Given the description of an element on the screen output the (x, y) to click on. 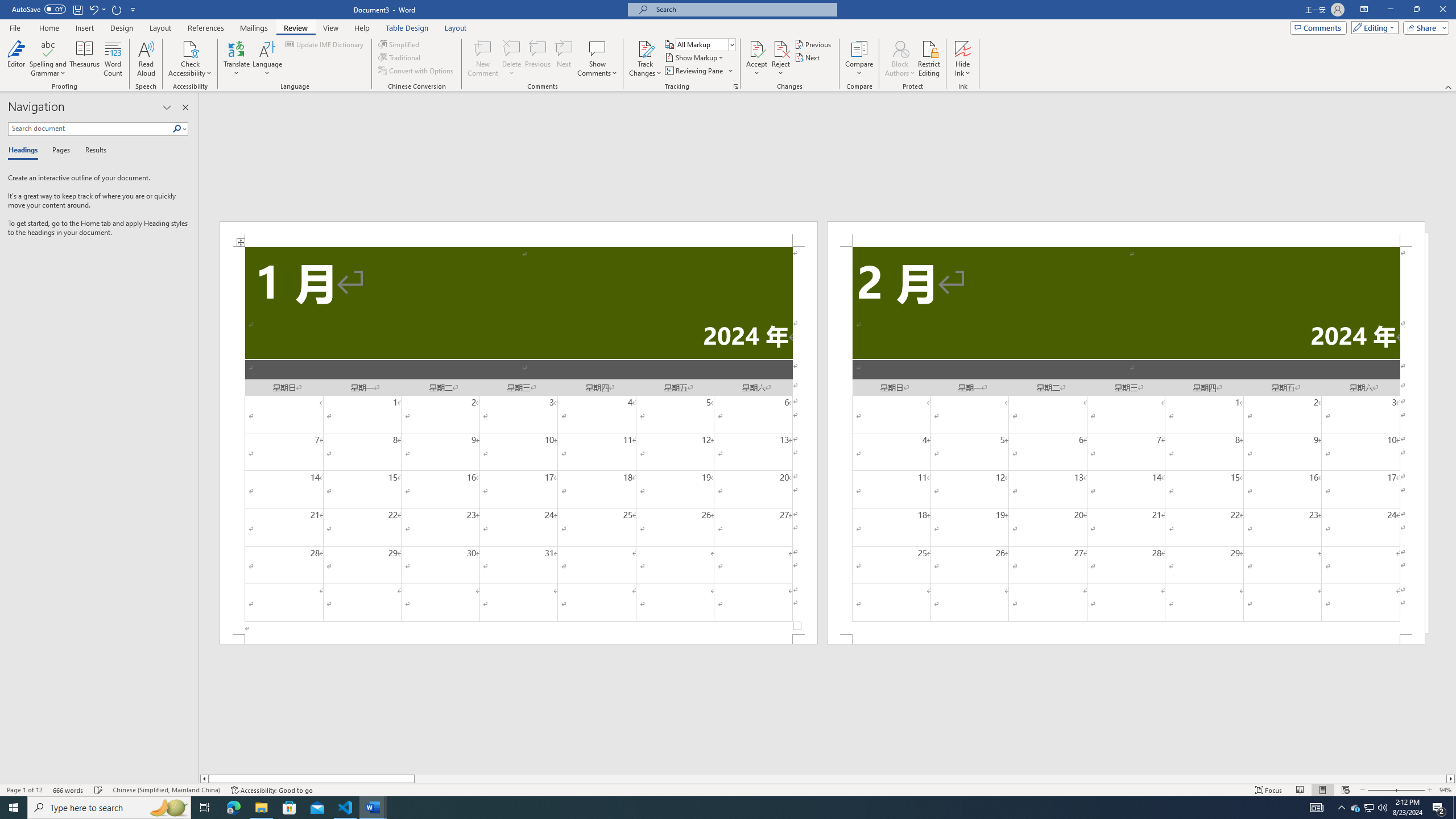
Word Count (113, 58)
Spelling and Grammar (48, 58)
Update IME Dictionary... (324, 44)
Page 2 content (1126, 439)
Compare (859, 58)
Word Count 666 words (68, 790)
